Given the description of an element on the screen output the (x, y) to click on. 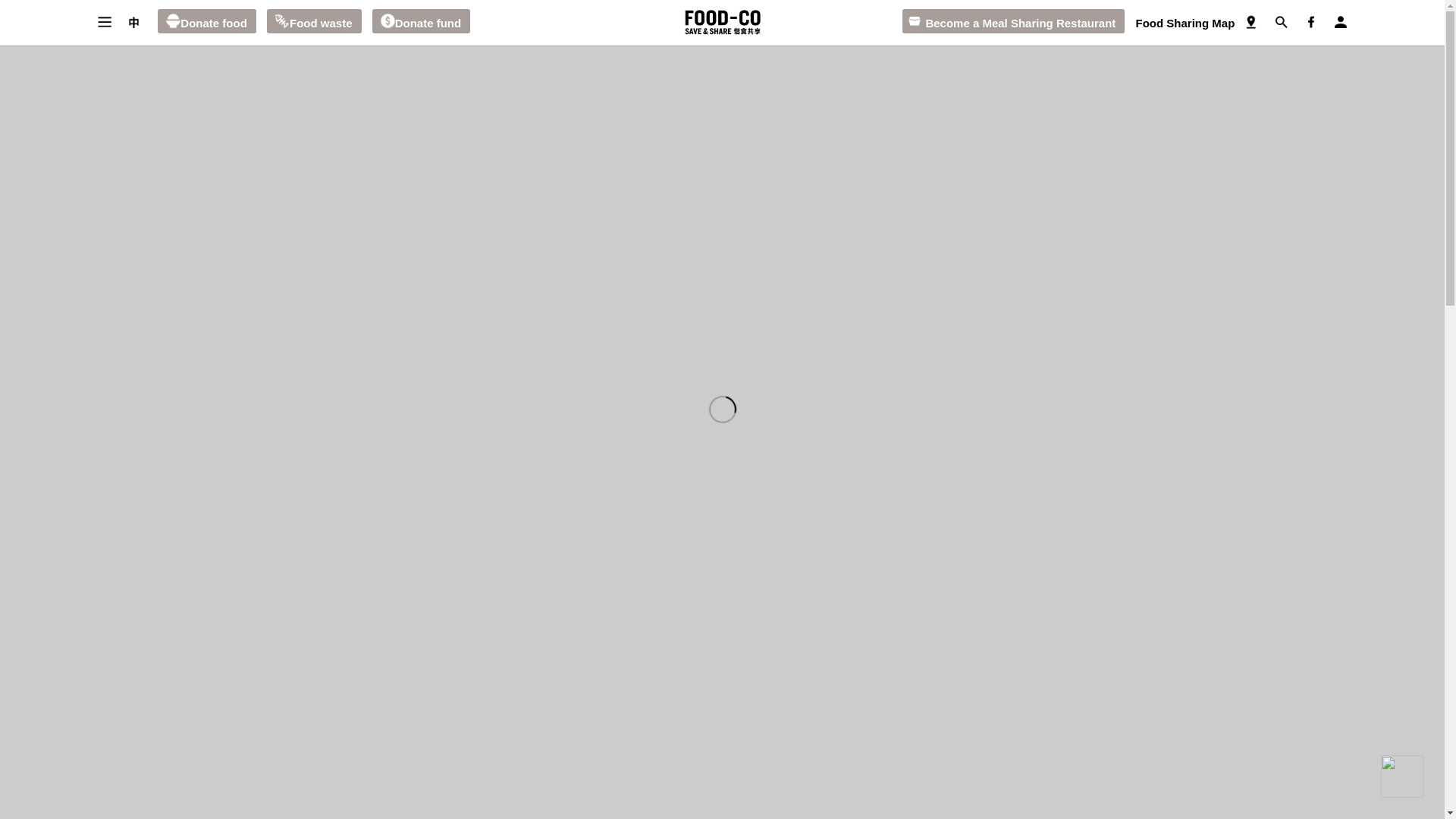
Facebook (1310, 22)
Menu (103, 22)
Search (1281, 22)
Food Sharing Map (1250, 22)
Search (1281, 22)
Food Sharing Map (1184, 22)
Language (133, 22)
Food Sharing Map (1184, 22)
Food Sharing Map (1250, 22)
Language (133, 22)
